Given the description of an element on the screen output the (x, y) to click on. 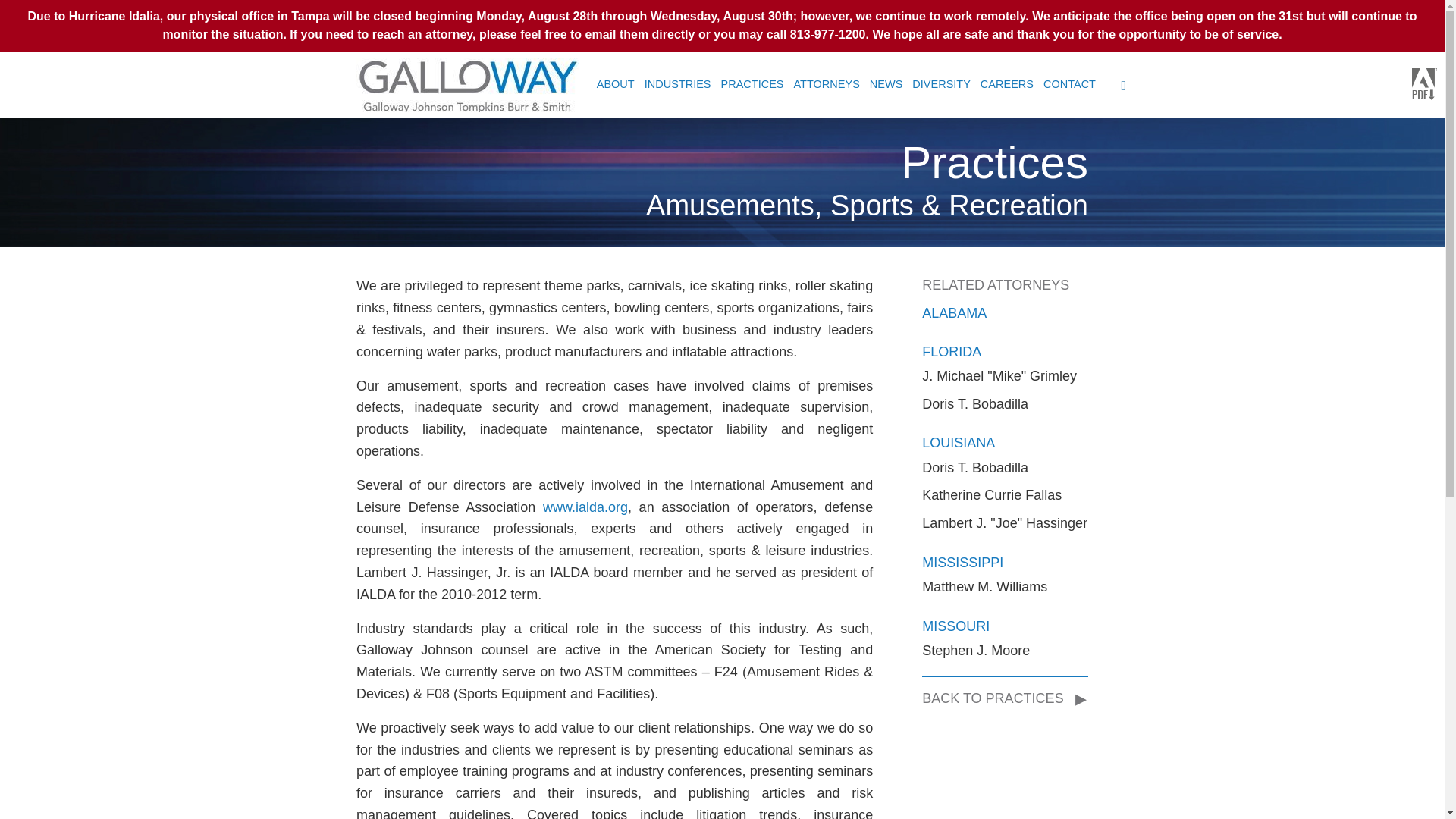
BACK TO PRACTICES (997, 698)
NEWS (885, 84)
DIVERSITY (941, 84)
INDUSTRIES (678, 84)
PRACTICES (752, 84)
ABOUT (615, 84)
Stephen J. Moore (975, 650)
CAREERS (1006, 84)
Doris T. Bobadilla (974, 403)
CONTACT (1069, 84)
J. Michael "Mike" Grimley (999, 376)
Search (74, 16)
Matthew M. Williams (983, 586)
Lambert J. "Joe" Hassinger (1004, 522)
Katherine Currie Fallas (991, 494)
